Given the description of an element on the screen output the (x, y) to click on. 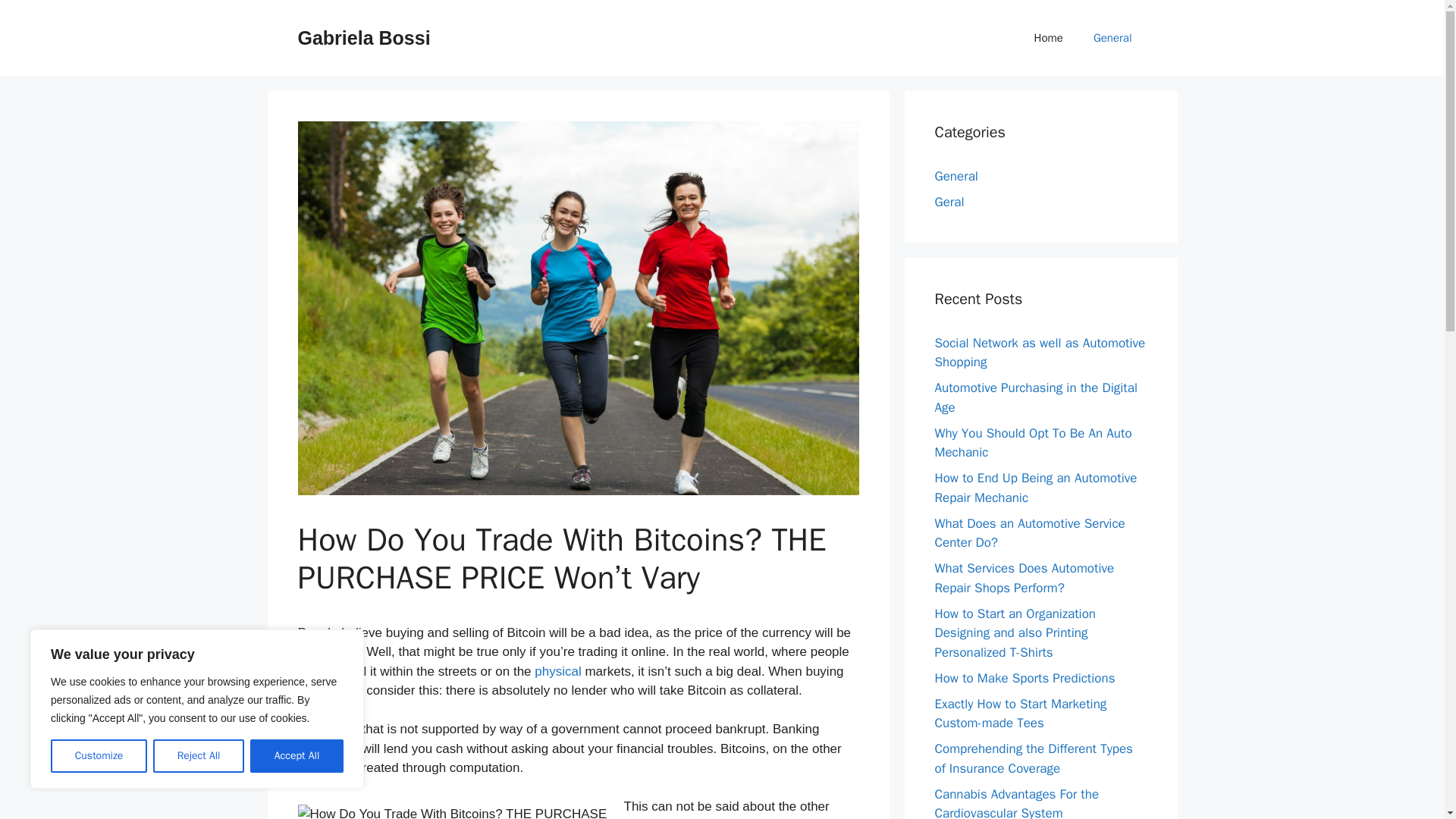
Reject All (198, 756)
What Does an Automotive Service Center Do? (1029, 533)
Gabriela Bossi (363, 37)
physical (557, 671)
Why You Should Opt To Be An Auto Mechanic (1032, 442)
How to End Up Being an Automotive Repair Mechanic (1035, 488)
Automotive Purchasing in the Digital Age (1035, 397)
Accept All (296, 756)
Customize (98, 756)
General (1112, 37)
